Given the description of an element on the screen output the (x, y) to click on. 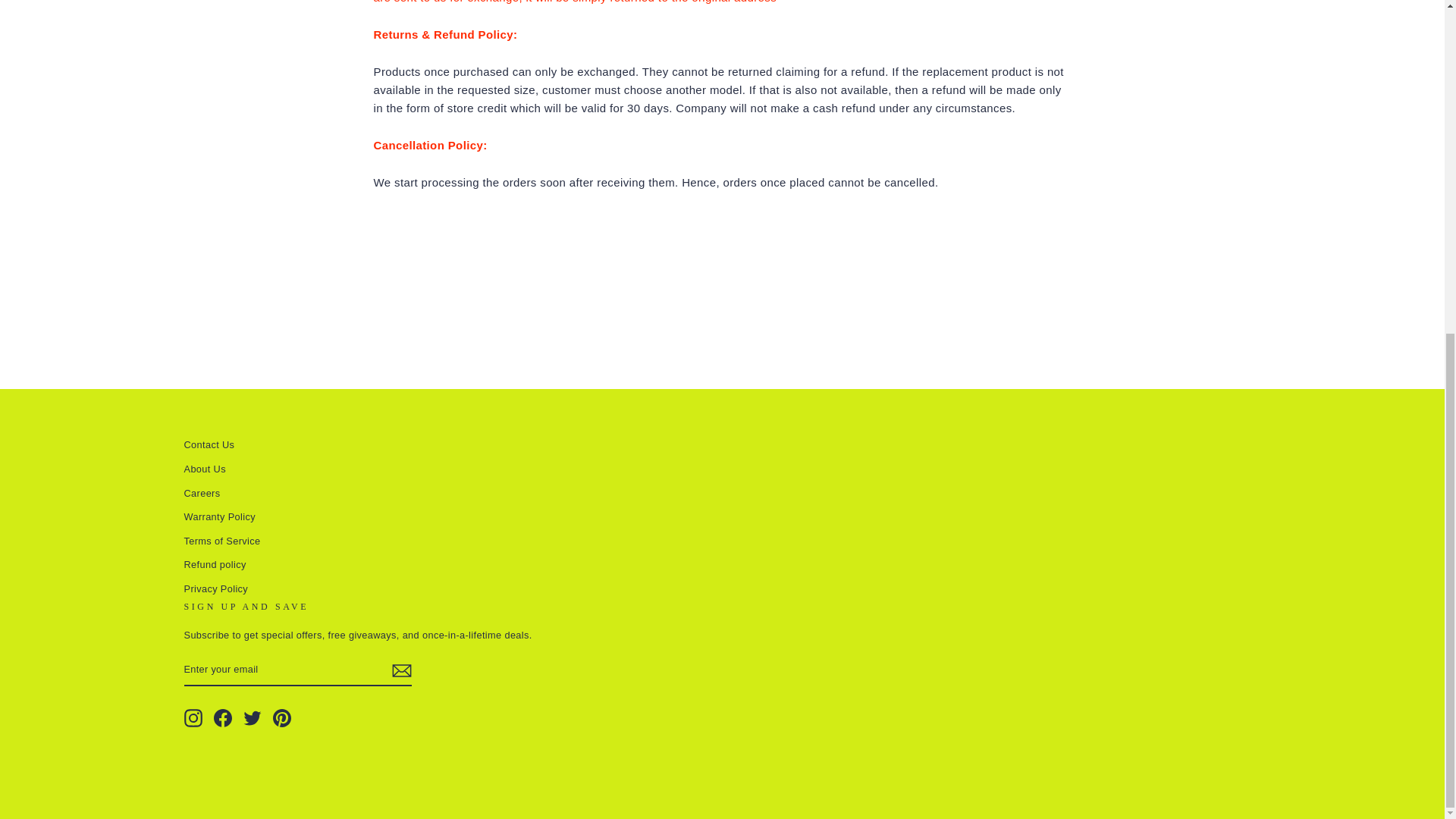
icon-email (400, 670)
PowerSports International on Pinterest (282, 718)
twitter (251, 718)
PowerSports International on Twitter (251, 718)
PowerSports International on Facebook (222, 718)
instagram (192, 718)
PowerSports International on Instagram (192, 718)
